Given the description of an element on the screen output the (x, y) to click on. 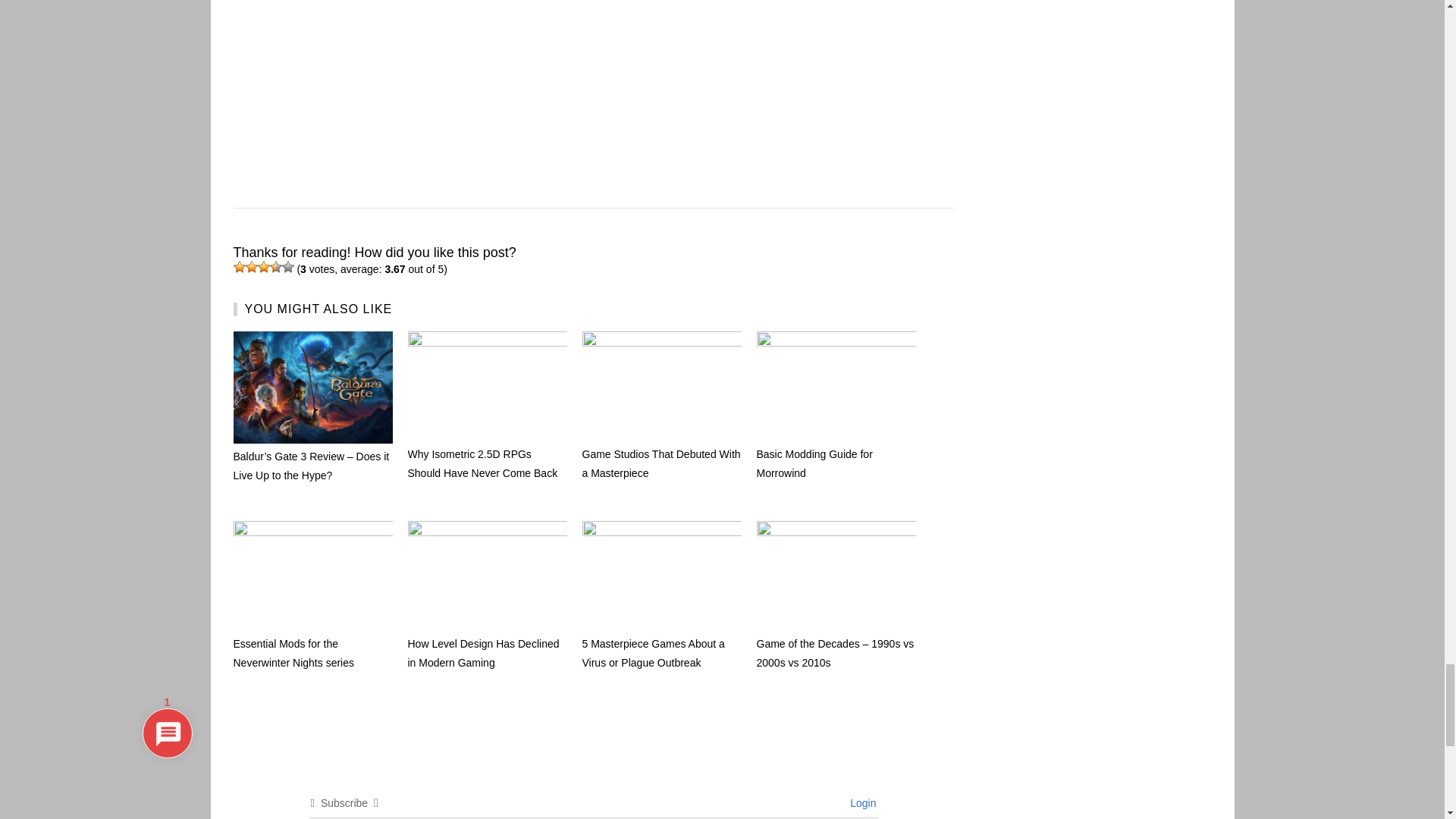
1 Star (239, 266)
3 Stars (263, 266)
4 Stars (275, 266)
5 Stars (288, 266)
2 Stars (251, 266)
